Given the description of an element on the screen output the (x, y) to click on. 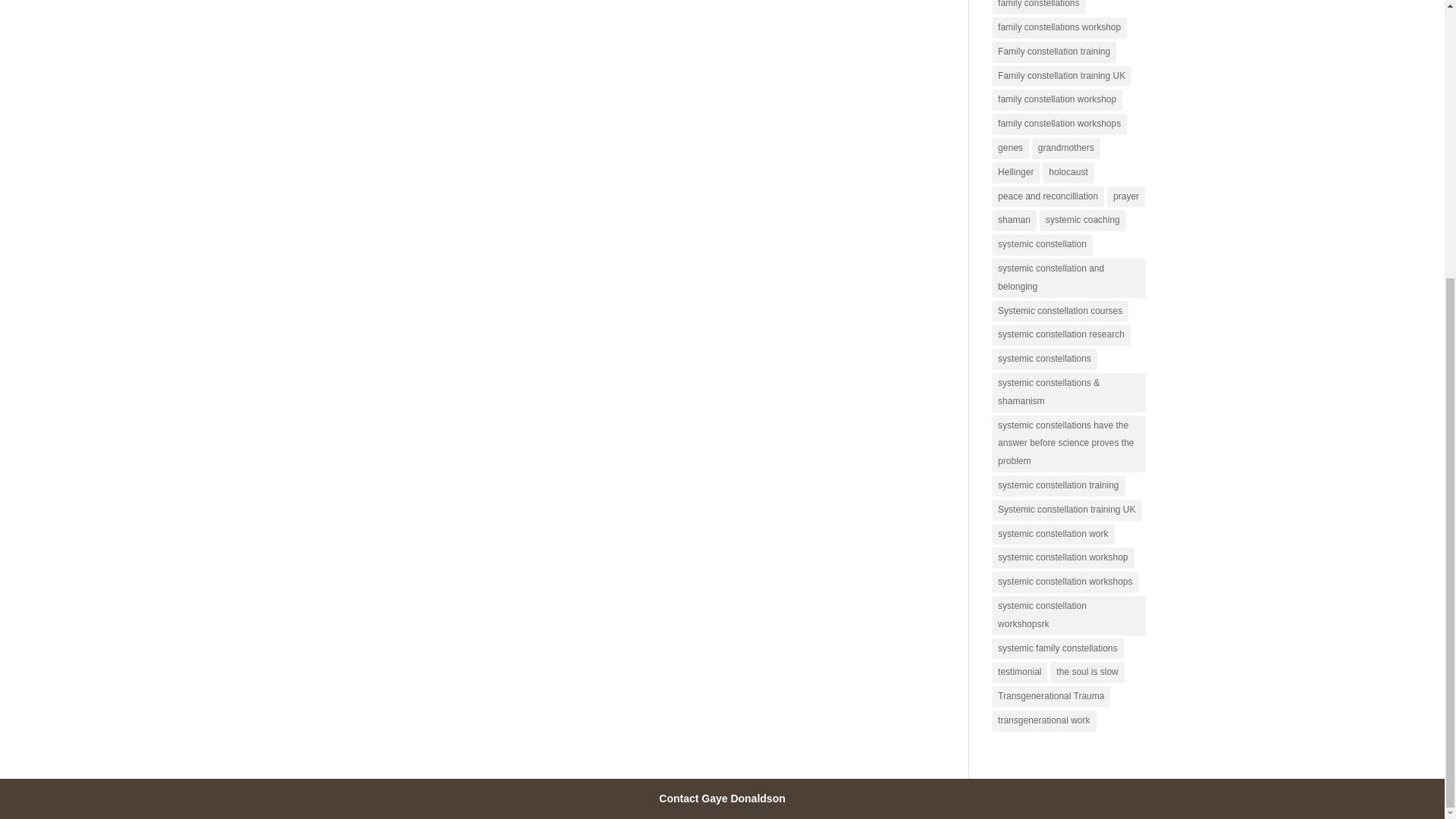
family constellations (1037, 7)
Family constellation training (1053, 52)
family constellation workshop (1056, 99)
Family constellation training UK (1061, 76)
family constellations workshop (1058, 27)
